Given the description of an element on the screen output the (x, y) to click on. 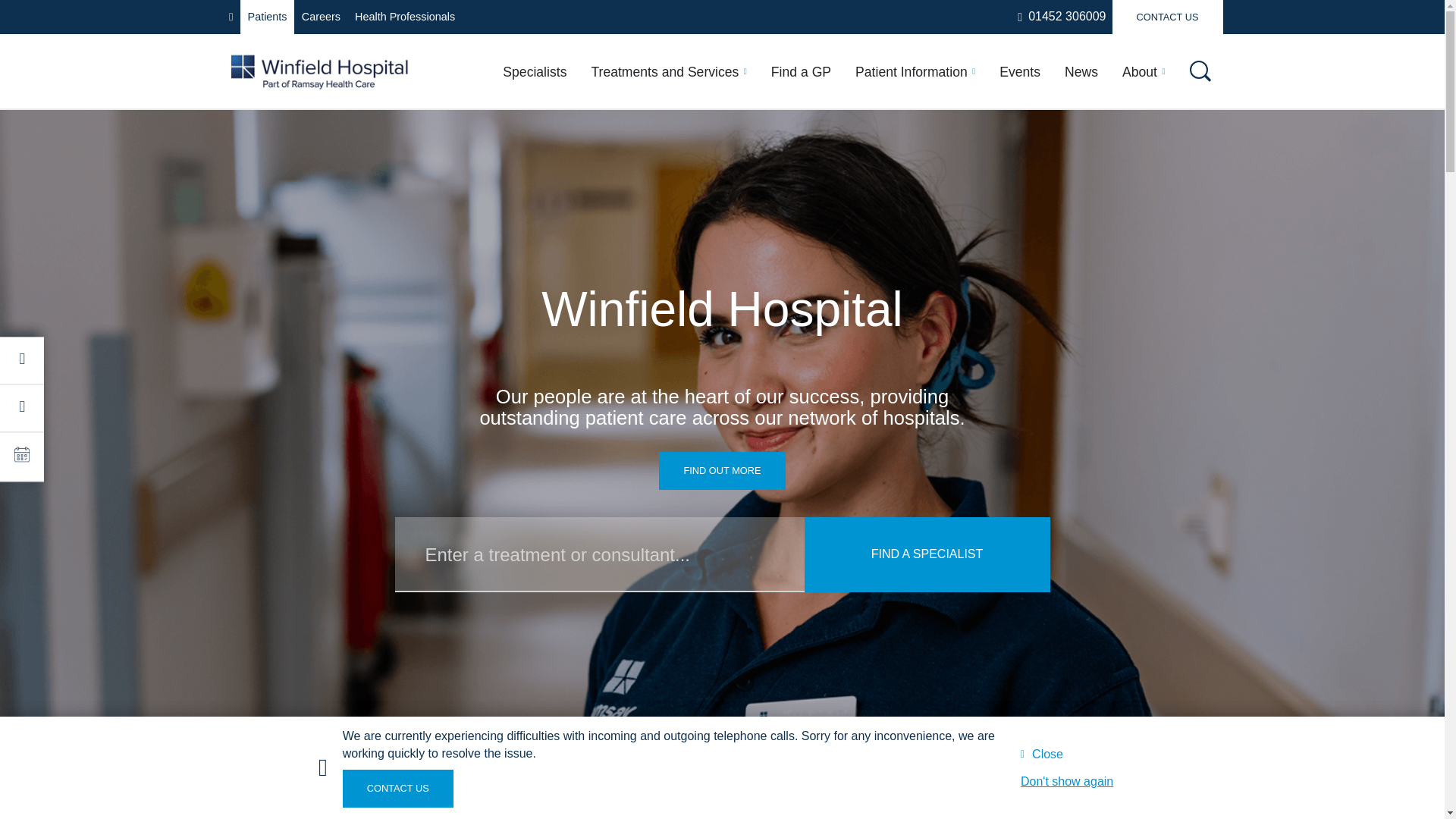
01452 306009 (1061, 17)
Gallbladder Surgery (842, 235)
Knee Replacement (839, 291)
Carpal Tunnel (823, 207)
General Surgery (494, 249)
Endoscopy (1042, 342)
Gastroenterology (323, 249)
Logo (318, 71)
Urology (467, 313)
Hip Replacement (834, 263)
Find a Specialist (926, 554)
Cosmetic Surgery (325, 185)
Health Professionals (405, 17)
Ear Nose and Throat (507, 217)
Patients (267, 17)
